Given the description of an element on the screen output the (x, y) to click on. 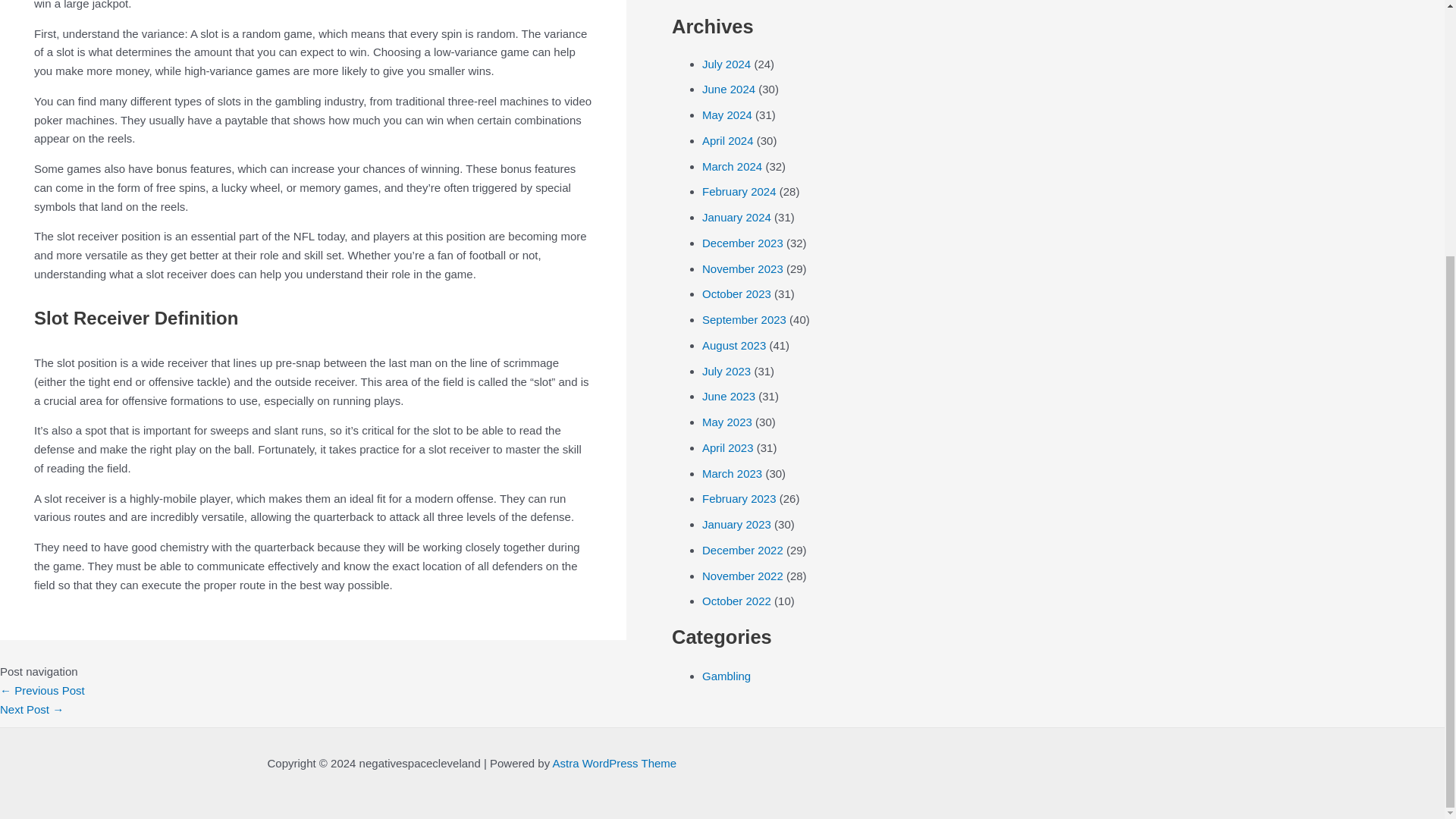
Astra WordPress Theme (615, 762)
November 2022 (742, 575)
The Mental Benefits of Playing Poker (32, 708)
September 2023 (743, 318)
January 2024 (736, 216)
April 2024 (727, 140)
May 2024 (726, 114)
May 2023 (726, 421)
How to Play at an Online Casino (42, 689)
March 2023 (731, 472)
June 2024 (728, 88)
December 2022 (742, 549)
Gambling (726, 675)
February 2023 (738, 498)
October 2023 (736, 293)
